Given the description of an element on the screen output the (x, y) to click on. 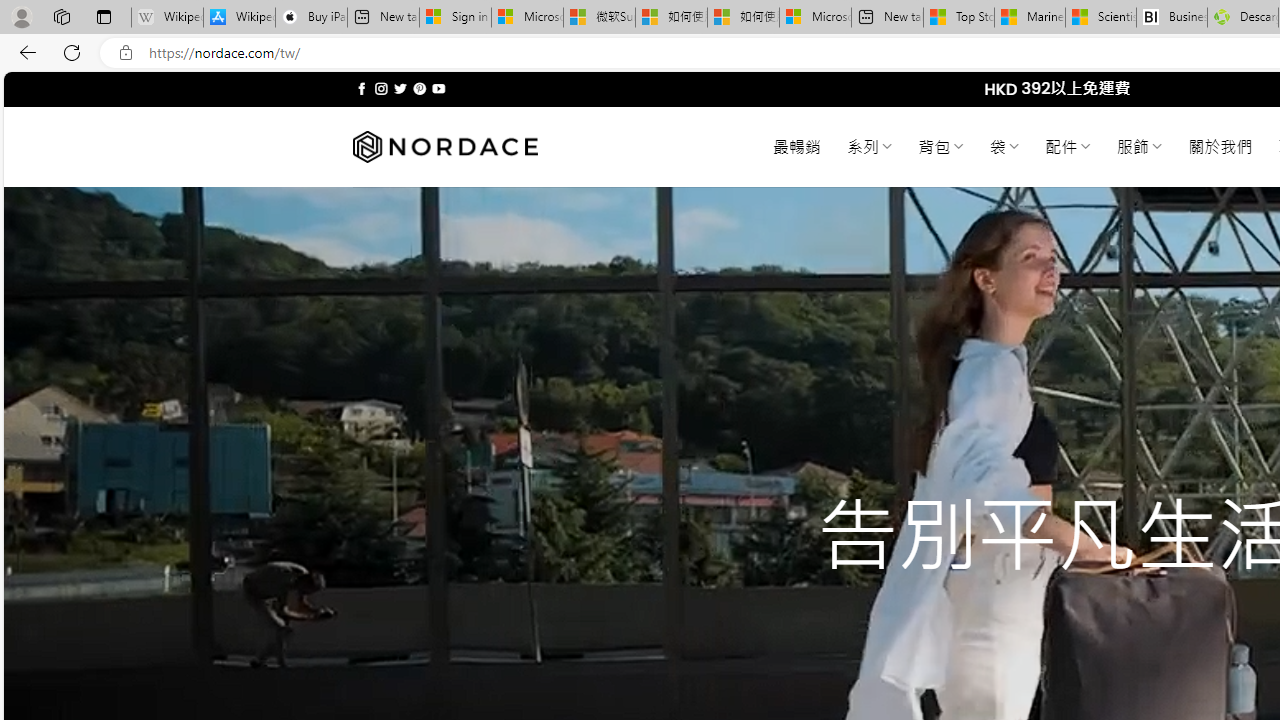
Follow on Twitter (400, 88)
